Given the description of an element on the screen output the (x, y) to click on. 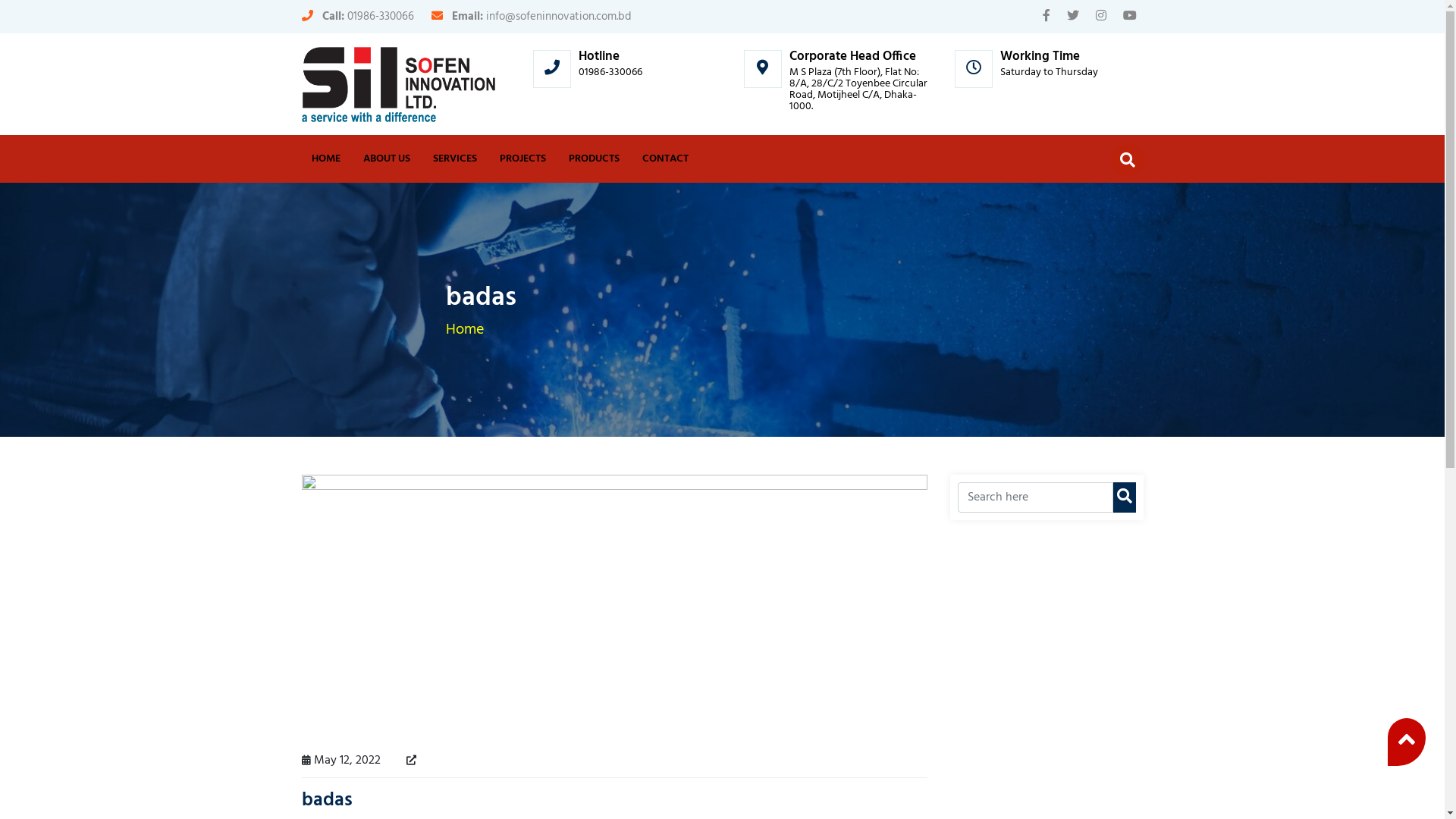
Home Element type: text (464, 328)
PRODUCTS Element type: text (593, 158)
Search for: Element type: hover (1034, 497)
CONTACT Element type: text (665, 158)
PROJECTS Element type: text (522, 158)
twitter Element type: hover (1072, 16)
facebook Element type: hover (1045, 16)
ABOUT US Element type: text (386, 158)
instagram Element type: hover (1100, 16)
HOME Element type: text (325, 158)
youtube Element type: hover (1128, 16)
SERVICES Element type: text (454, 158)
